Given the description of an element on the screen output the (x, y) to click on. 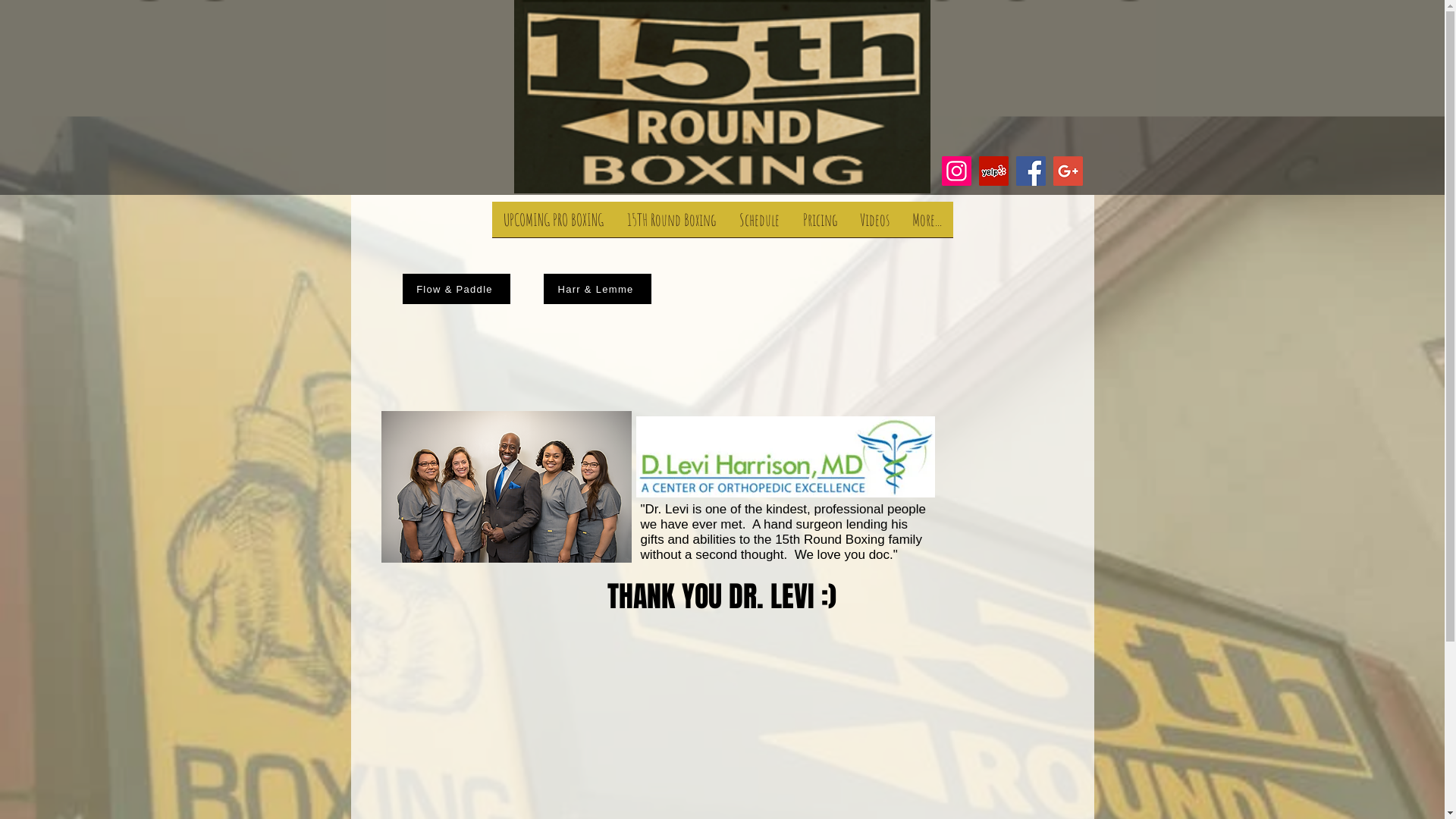
Videos Element type: text (873, 224)
Flow & Paddle Element type: text (455, 288)
UPCOMING PRO BOXING Element type: text (553, 224)
15TH Round Boxing Element type: text (671, 224)
15th orgnl.png Element type: hover (722, 96)
Schedule Element type: text (759, 224)
Harr & Lemme Element type: text (596, 288)
Pricing Element type: text (819, 224)
